Given the description of an element on the screen output the (x, y) to click on. 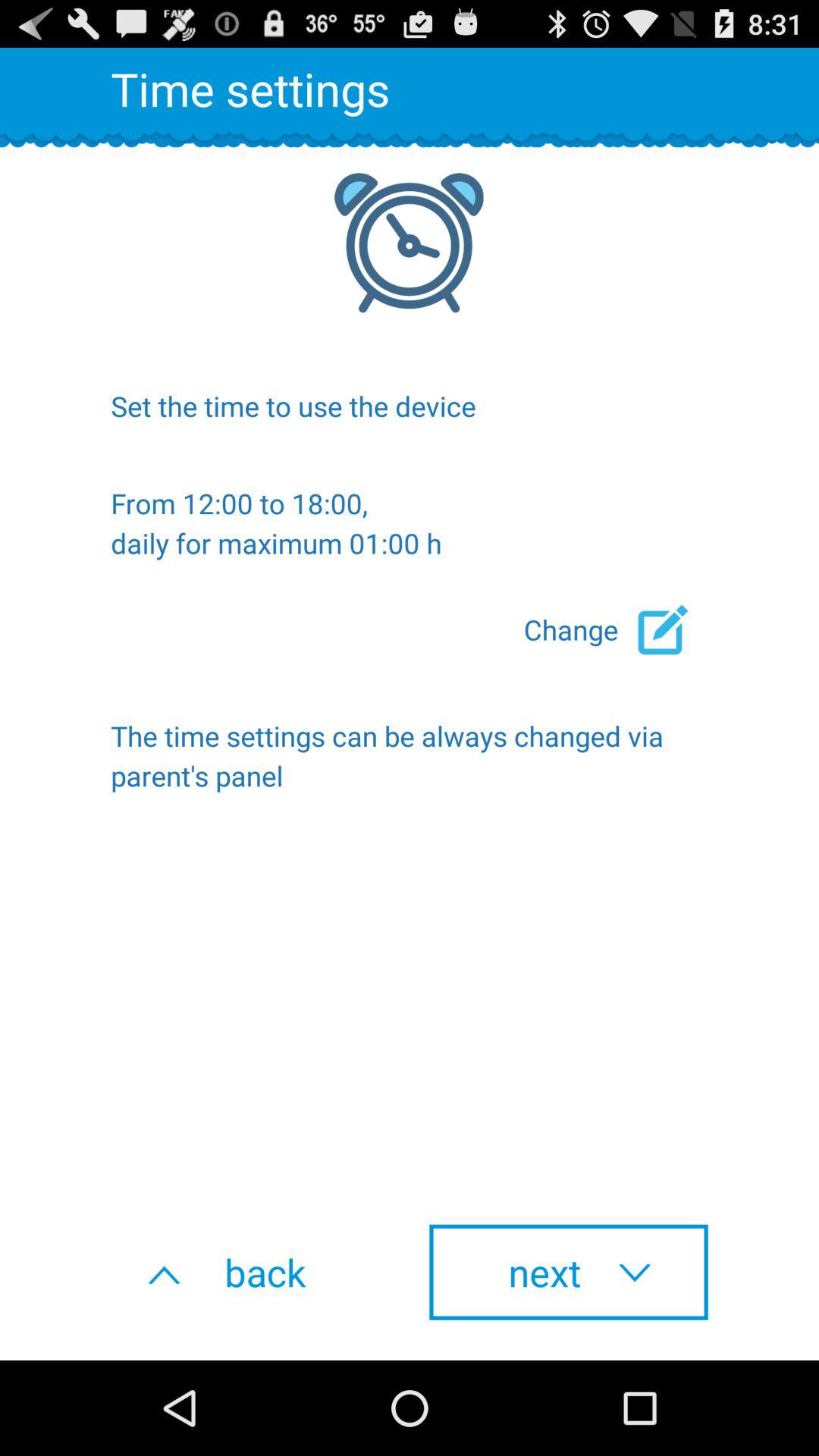
select icon below the time settings item (568, 1272)
